Given the description of an element on the screen output the (x, y) to click on. 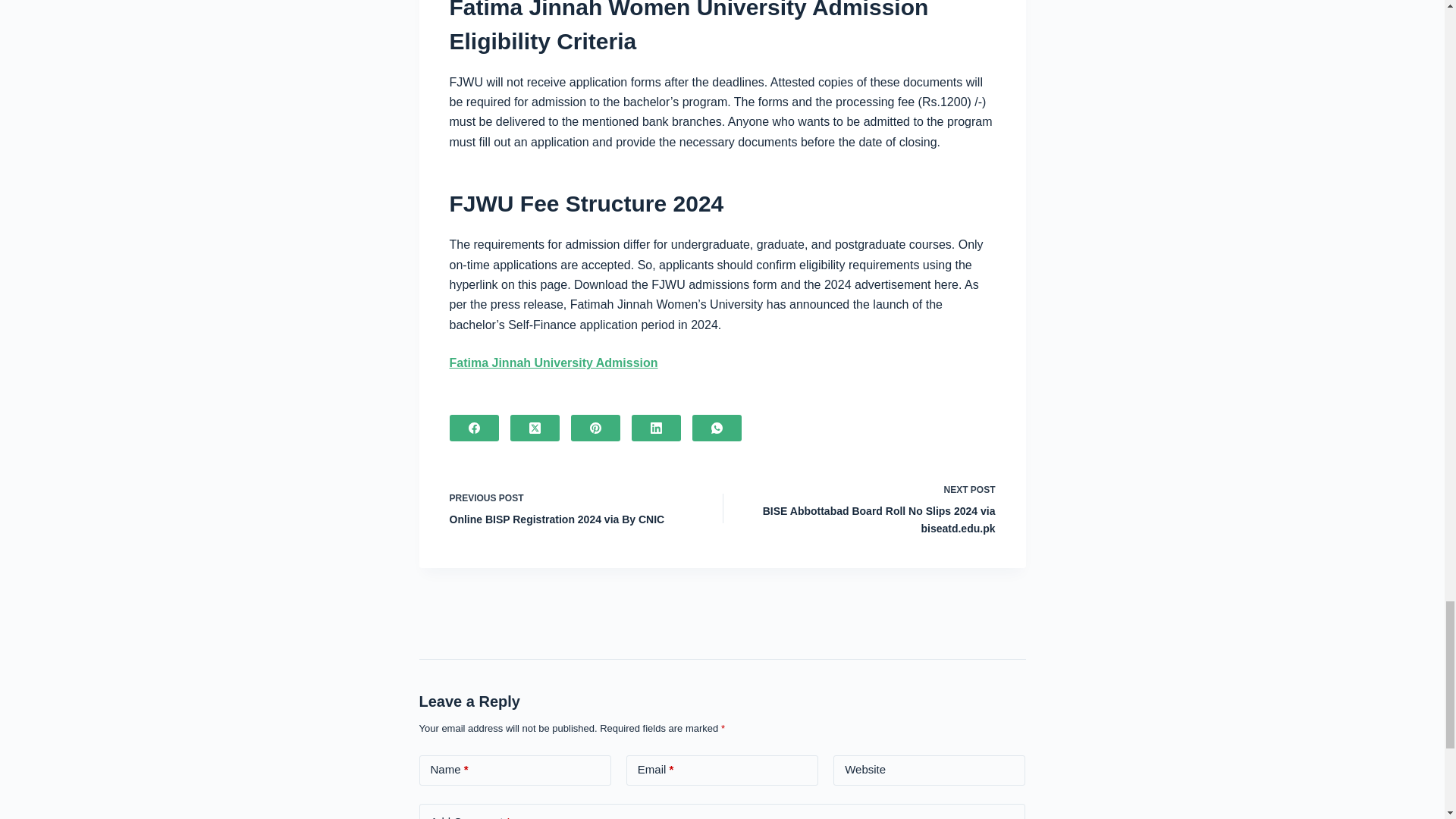
Fatima Jinnah University Admission (553, 362)
